Given the description of an element on the screen output the (x, y) to click on. 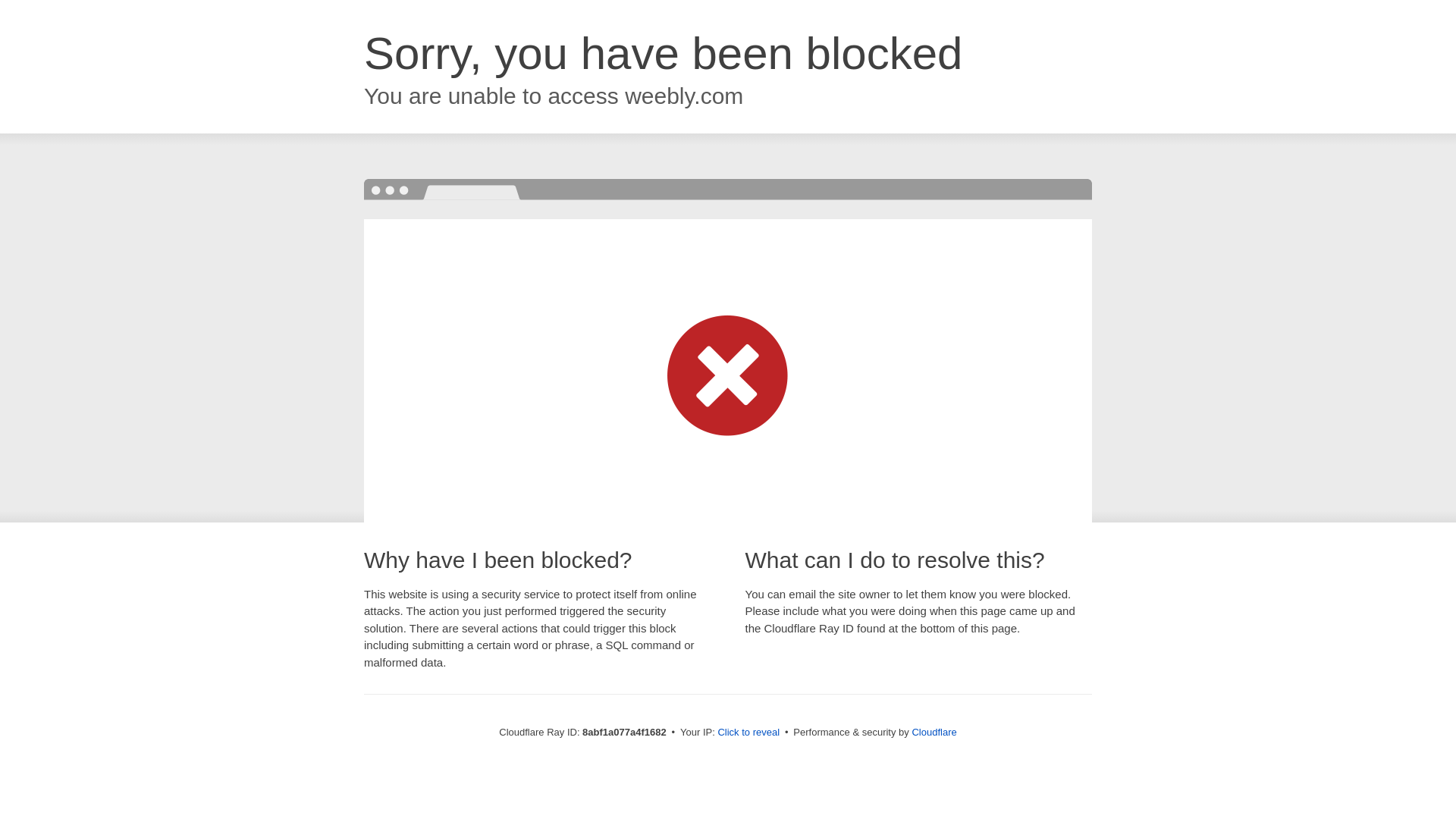
Cloudflare (933, 731)
Click to reveal (747, 732)
